Given the description of an element on the screen output the (x, y) to click on. 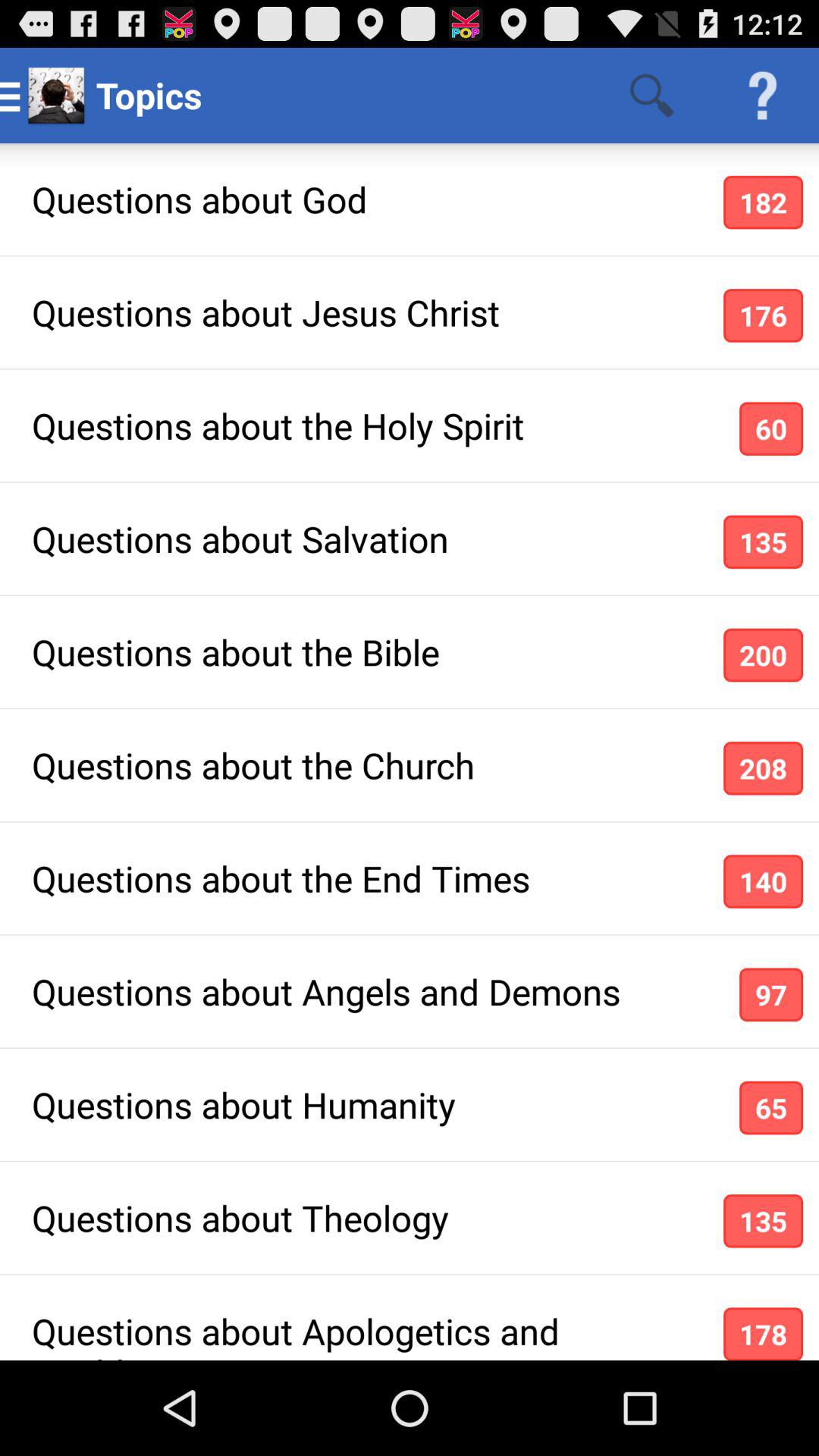
click the icon to the right of the questions about angels item (771, 994)
